Given the description of an element on the screen output the (x, y) to click on. 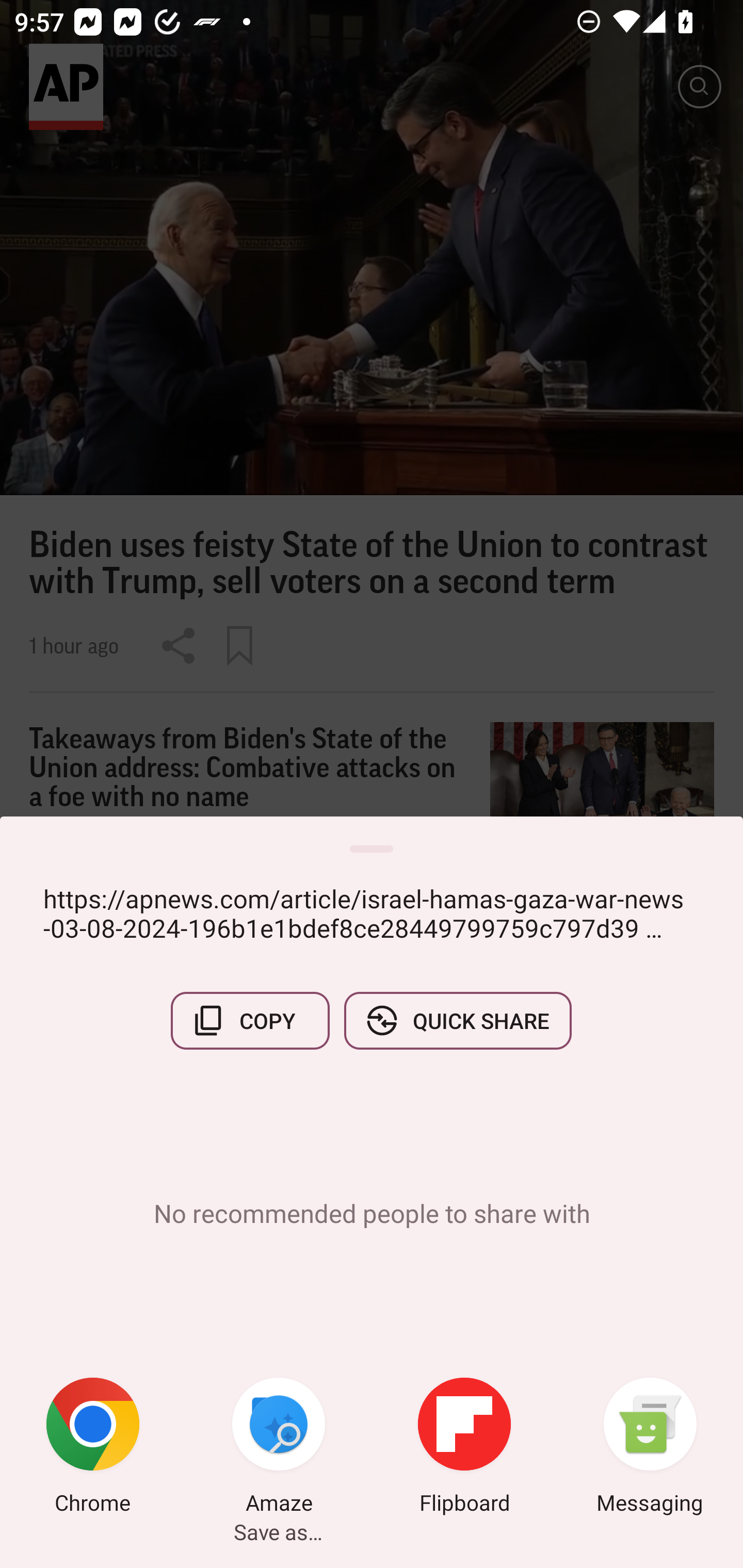
COPY (249, 1020)
QUICK SHARE (457, 1020)
Chrome (92, 1448)
Amaze Save as… (278, 1448)
Flipboard (464, 1448)
Messaging (650, 1448)
